Given the description of an element on the screen output the (x, y) to click on. 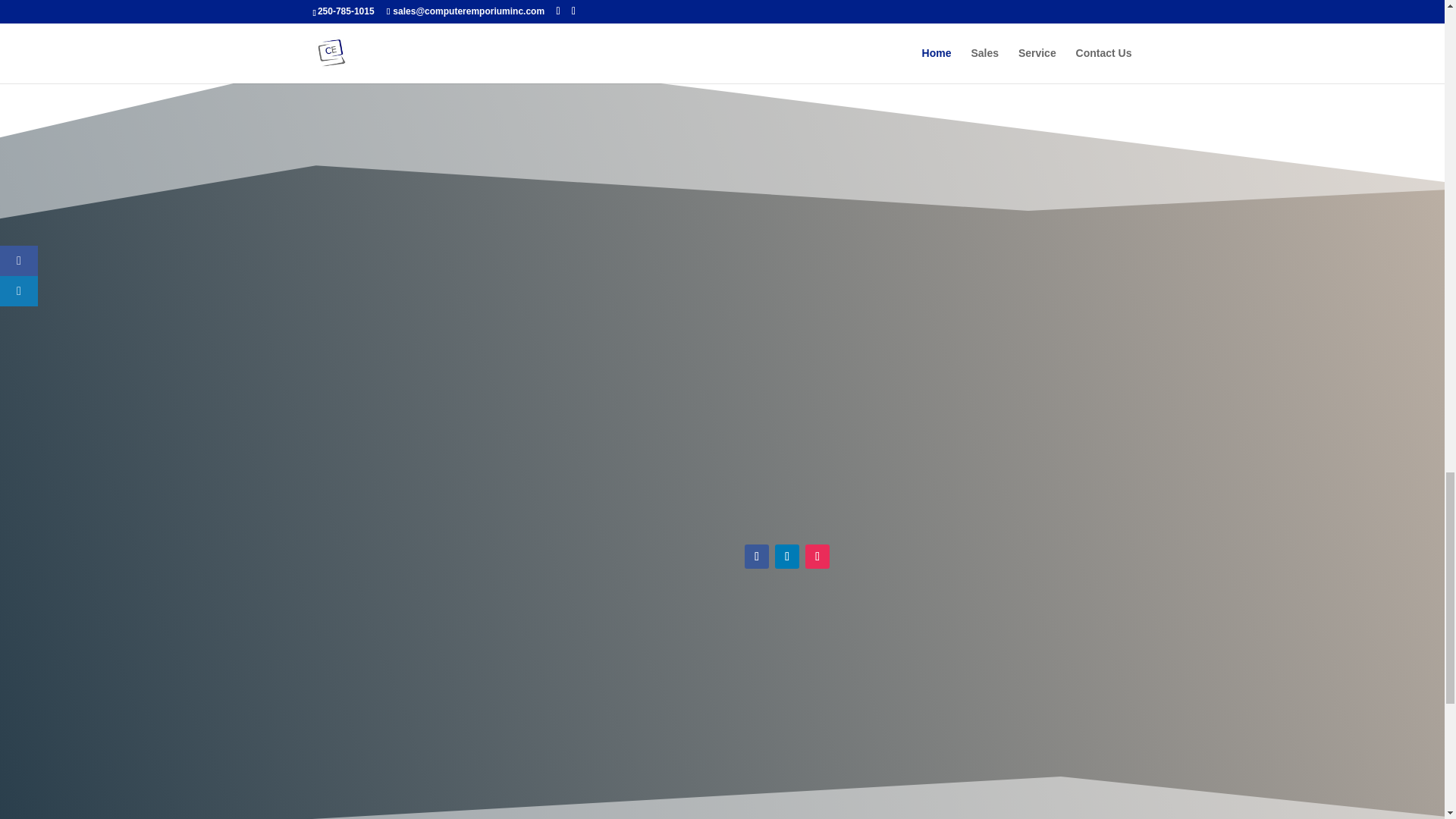
Follow on Facebook (756, 556)
Follow on LinkedIn (786, 556)
Follow on Instagram (817, 556)
